Given the description of an element on the screen output the (x, y) to click on. 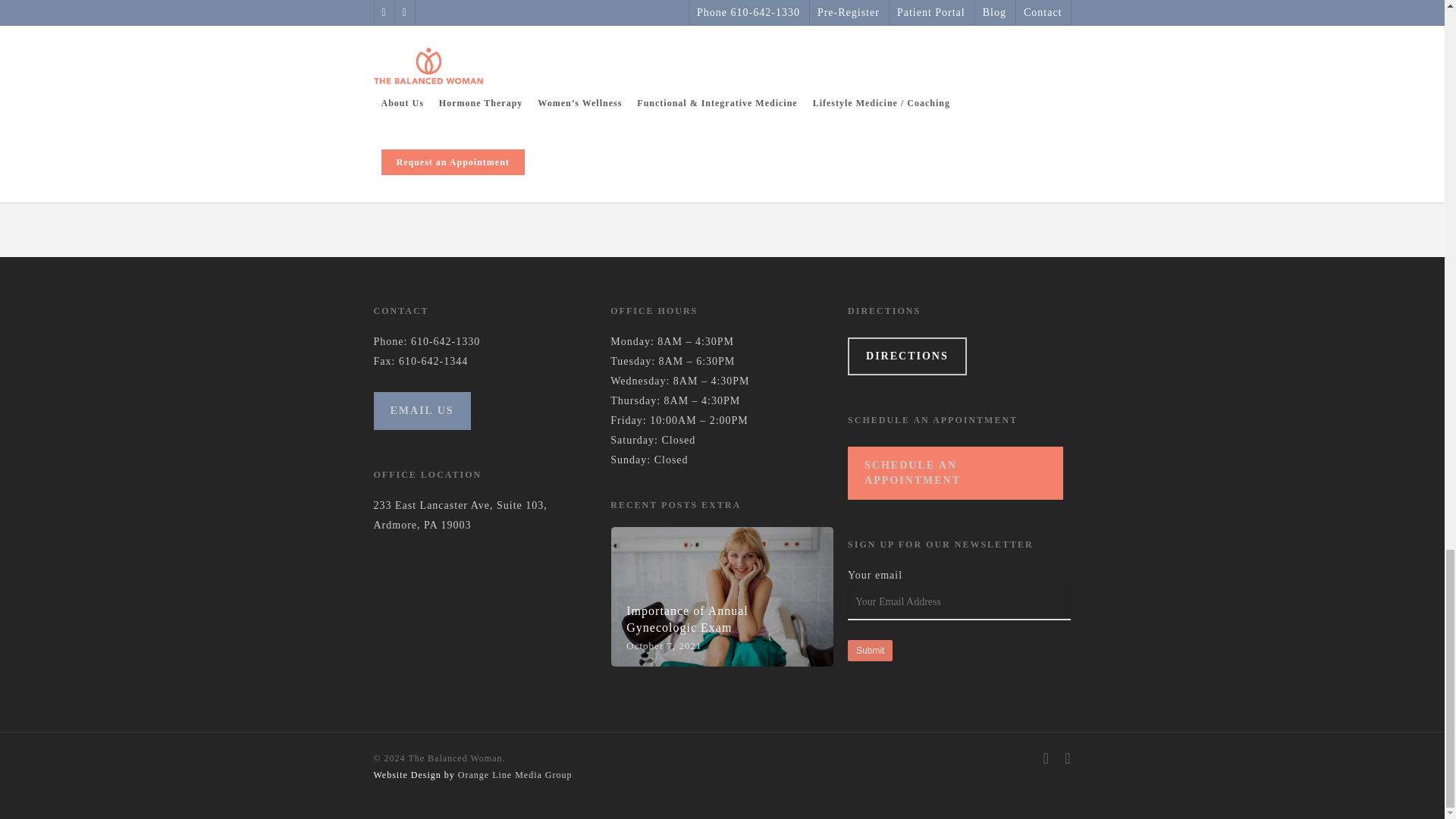
Submit (869, 649)
